Given the description of an element on the screen output the (x, y) to click on. 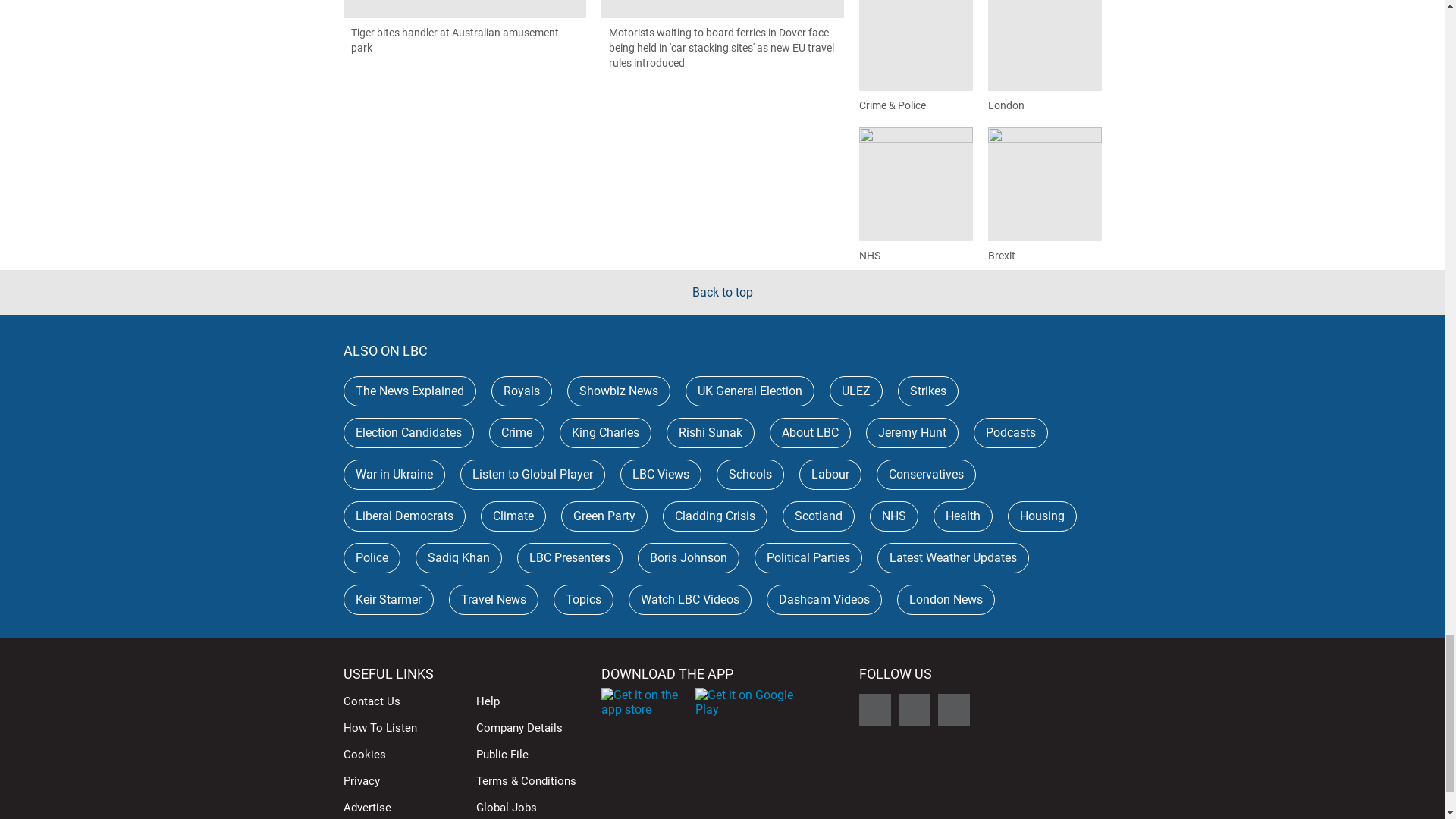
Follow LBC on Facebook (874, 709)
Back to top (721, 292)
Follow LBC on Instagram (914, 709)
Follow LBC on Youtube (953, 709)
